Given the description of an element on the screen output the (x, y) to click on. 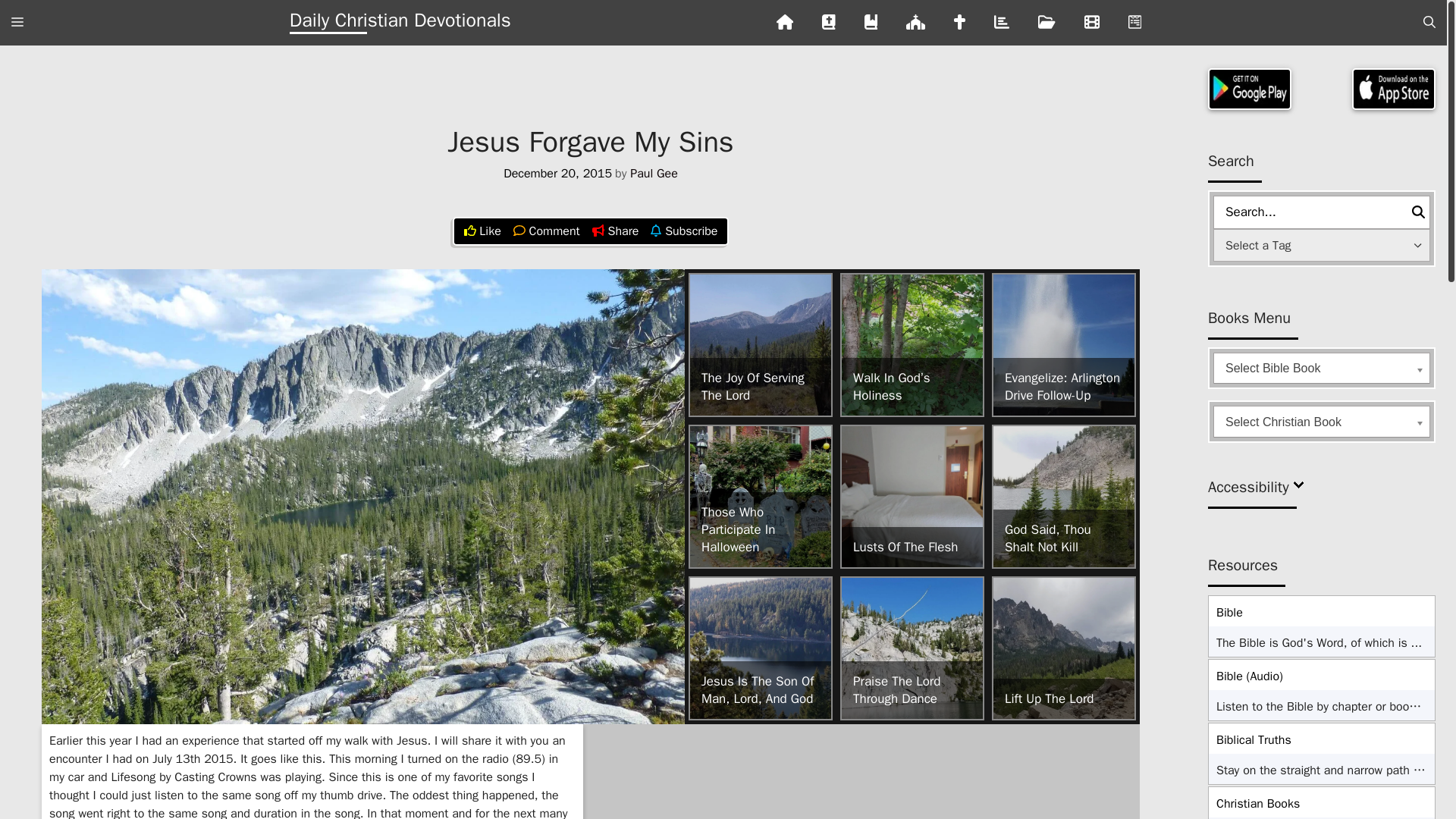
Daily Christian Devotionals (400, 23)
Android App (1249, 88)
View all posts by Paul Gee (654, 173)
IOS App (1393, 88)
